Given the description of an element on the screen output the (x, y) to click on. 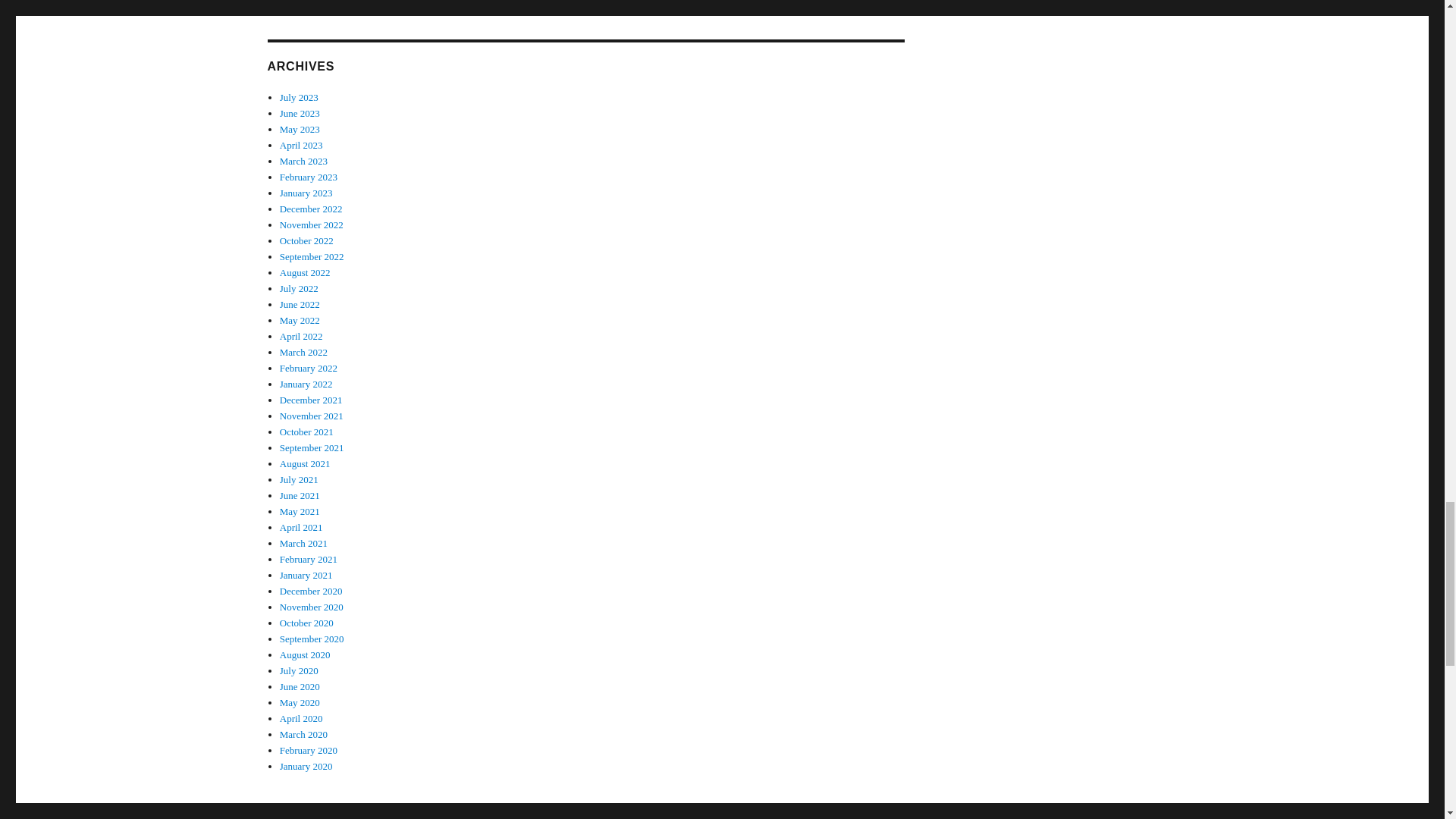
October 2022 (306, 240)
February 2022 (308, 367)
October 2021 (306, 431)
May 2022 (299, 319)
April 2022 (301, 336)
April 2021 (301, 527)
May 2021 (299, 511)
September 2021 (311, 447)
December 2022 (310, 208)
November 2021 (311, 415)
May 2023 (299, 129)
July 2022 (298, 288)
December 2020 (310, 591)
August 2022 (304, 272)
January 2023 (306, 193)
